Given the description of an element on the screen output the (x, y) to click on. 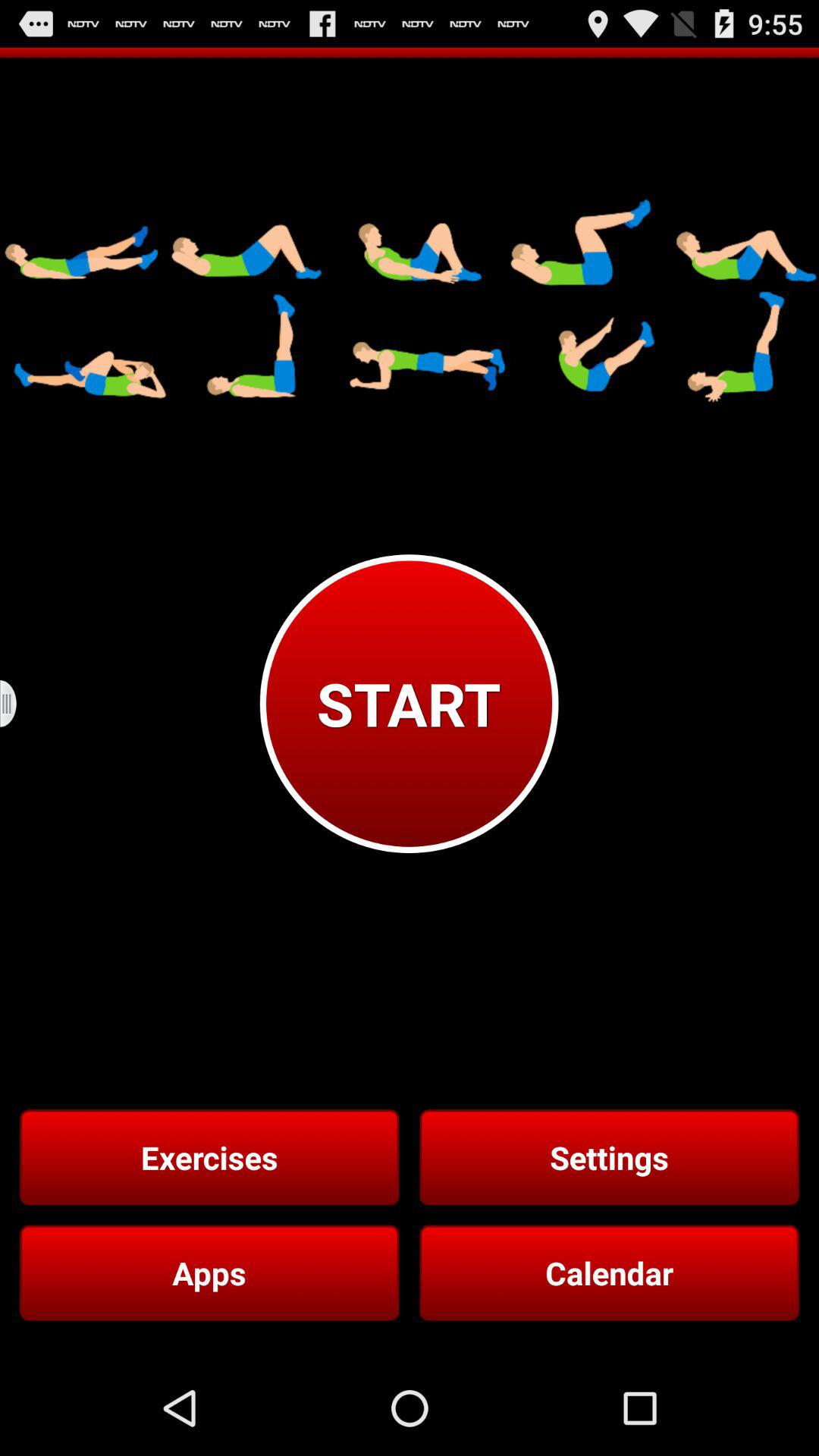
turn on button above the exercises icon (18, 703)
